Given the description of an element on the screen output the (x, y) to click on. 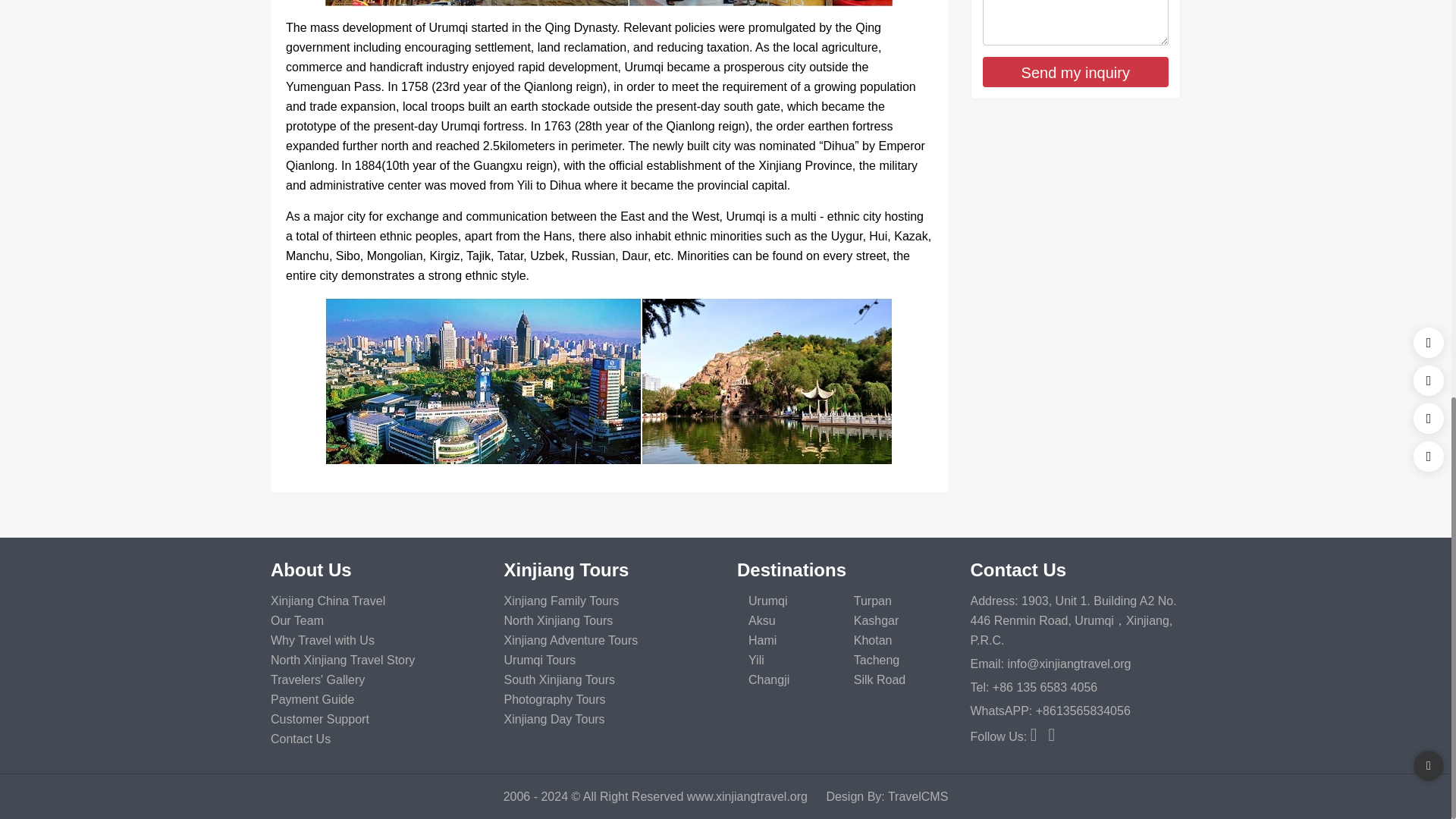
international-bazaar.jpg (608, 3)
Send my inquiry (1075, 71)
red hill park.jpg (608, 381)
